Given the description of an element on the screen output the (x, y) to click on. 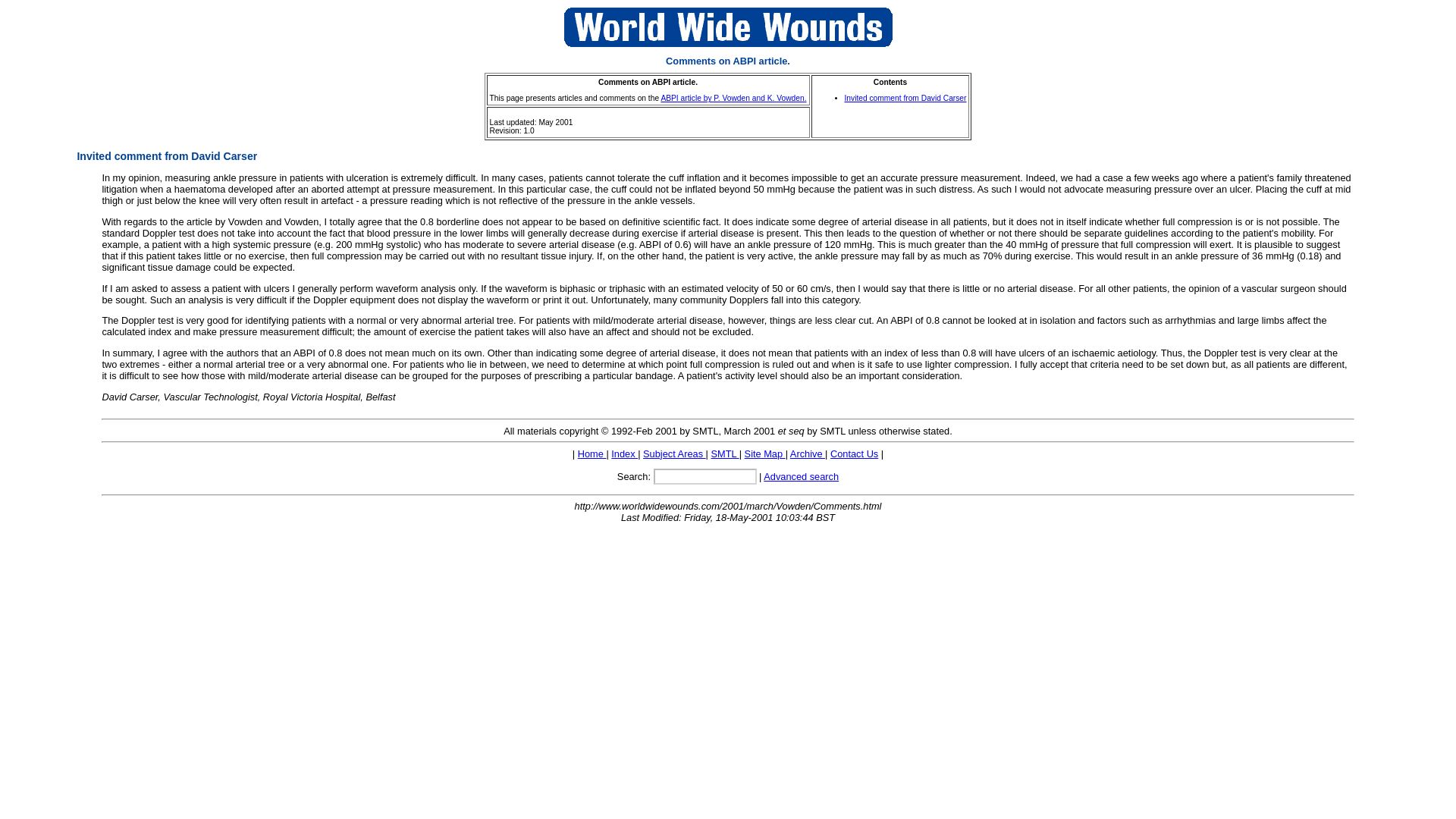
SMTL (724, 452)
ABPI article by P. Vowden and K. Vowden. (733, 98)
Home (592, 452)
Site Map (765, 452)
Subject Areas (674, 452)
Index (624, 452)
Invited comment from David Carser (905, 98)
Advanced search (800, 476)
Archive (807, 452)
Contact Us (853, 452)
